Given the description of an element on the screen output the (x, y) to click on. 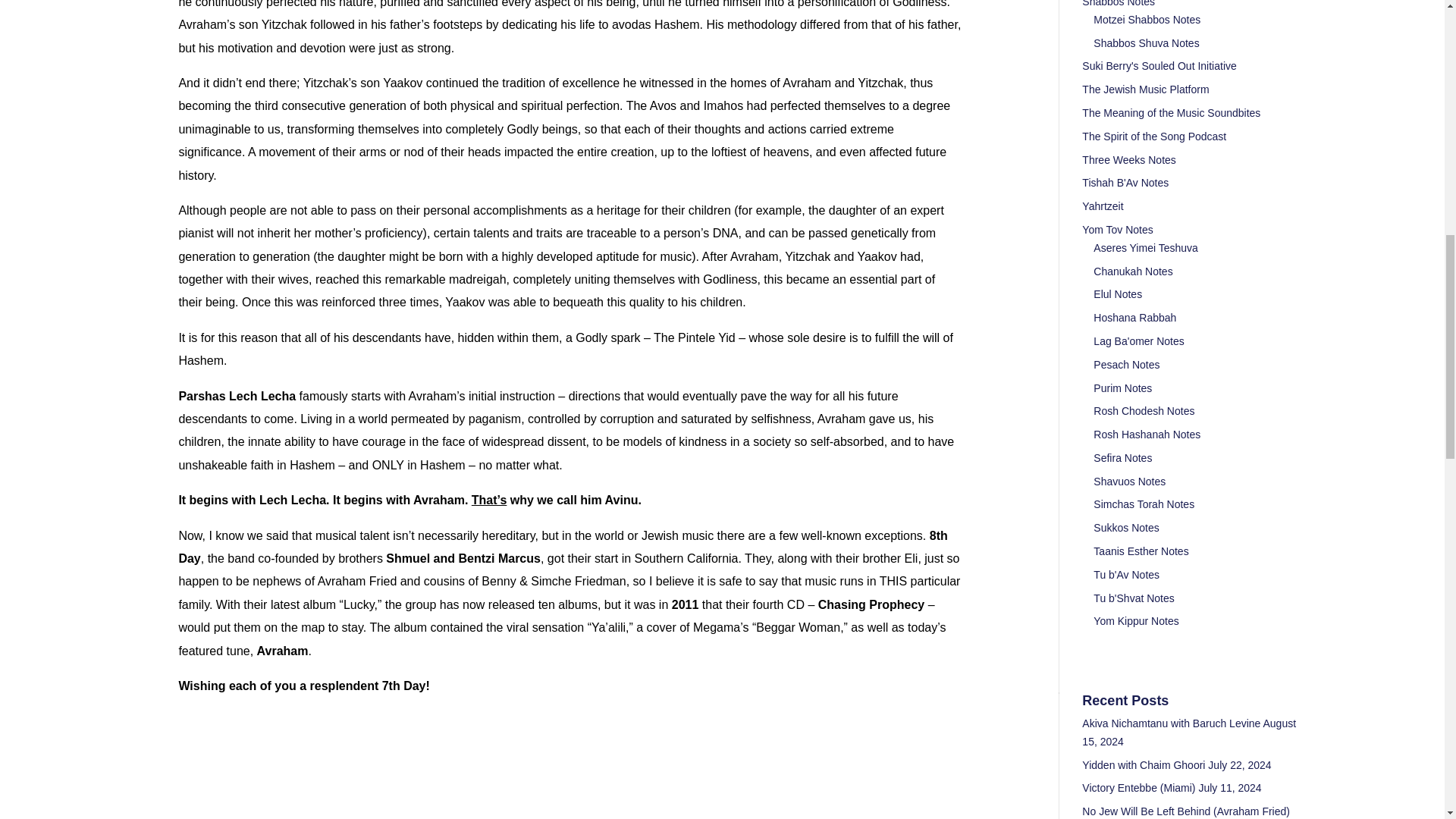
Three Weeks Notes (1127, 159)
Suki Berry's Souled Out Initiative (1158, 65)
The Meaning of the Music Soundbites (1170, 112)
Yahrtzeit (1101, 205)
The Jewish Music Platform (1144, 89)
Aseres Yimei Teshuva (1144, 247)
Tishah B'Av Notes (1125, 182)
Motzei Shabbos Notes (1146, 19)
Yom Tov Notes (1117, 229)
Shabbos Notes (1117, 3)
